Given the description of an element on the screen output the (x, y) to click on. 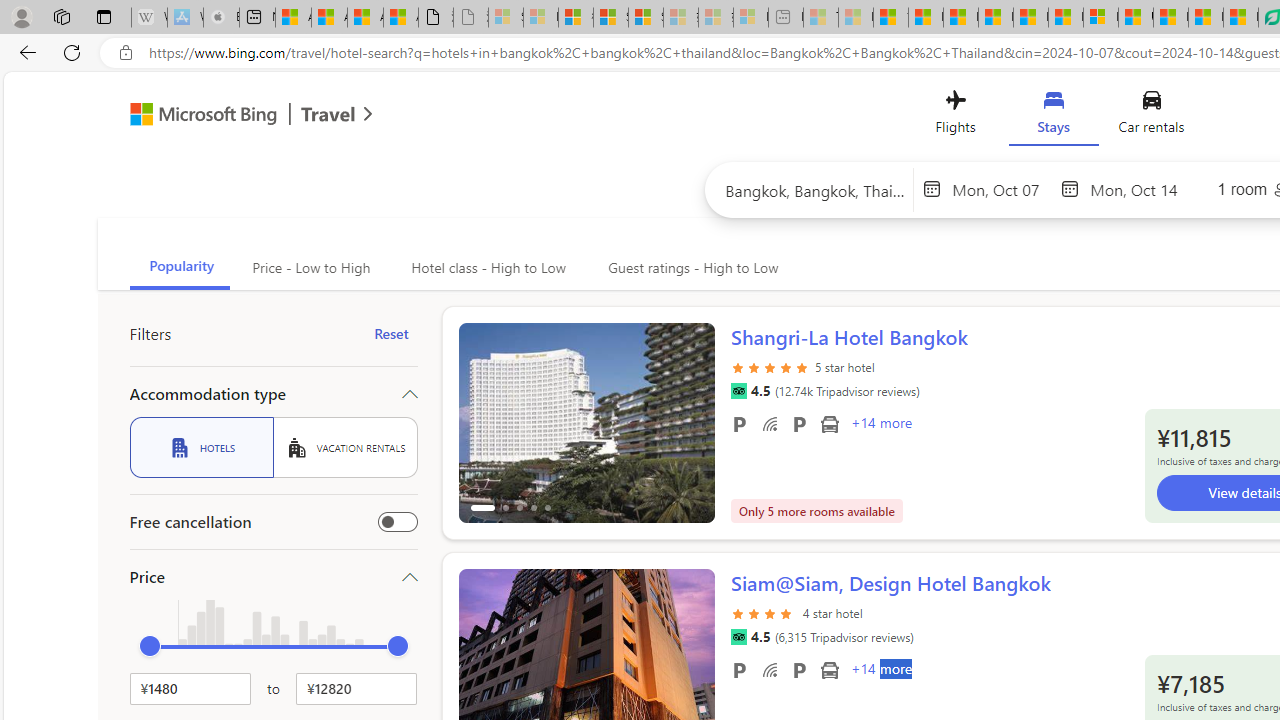
Tripadvisor (738, 637)
Valet parking (798, 669)
Buy iPad - Apple - Sleeping (221, 17)
ScrollRight (690, 660)
Free WiFi (769, 669)
Free parking (738, 669)
Foo BAR | Trusted Community Engagement and Contributions (1065, 17)
VACATION RENTALS (345, 447)
